Given the description of an element on the screen output the (x, y) to click on. 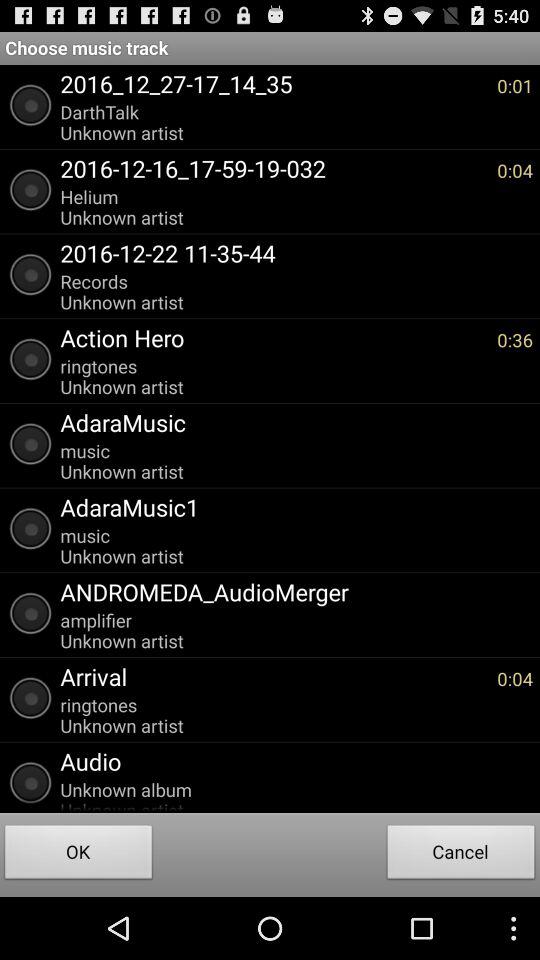
click icon above music
unknown artist app (291, 507)
